Given the description of an element on the screen output the (x, y) to click on. 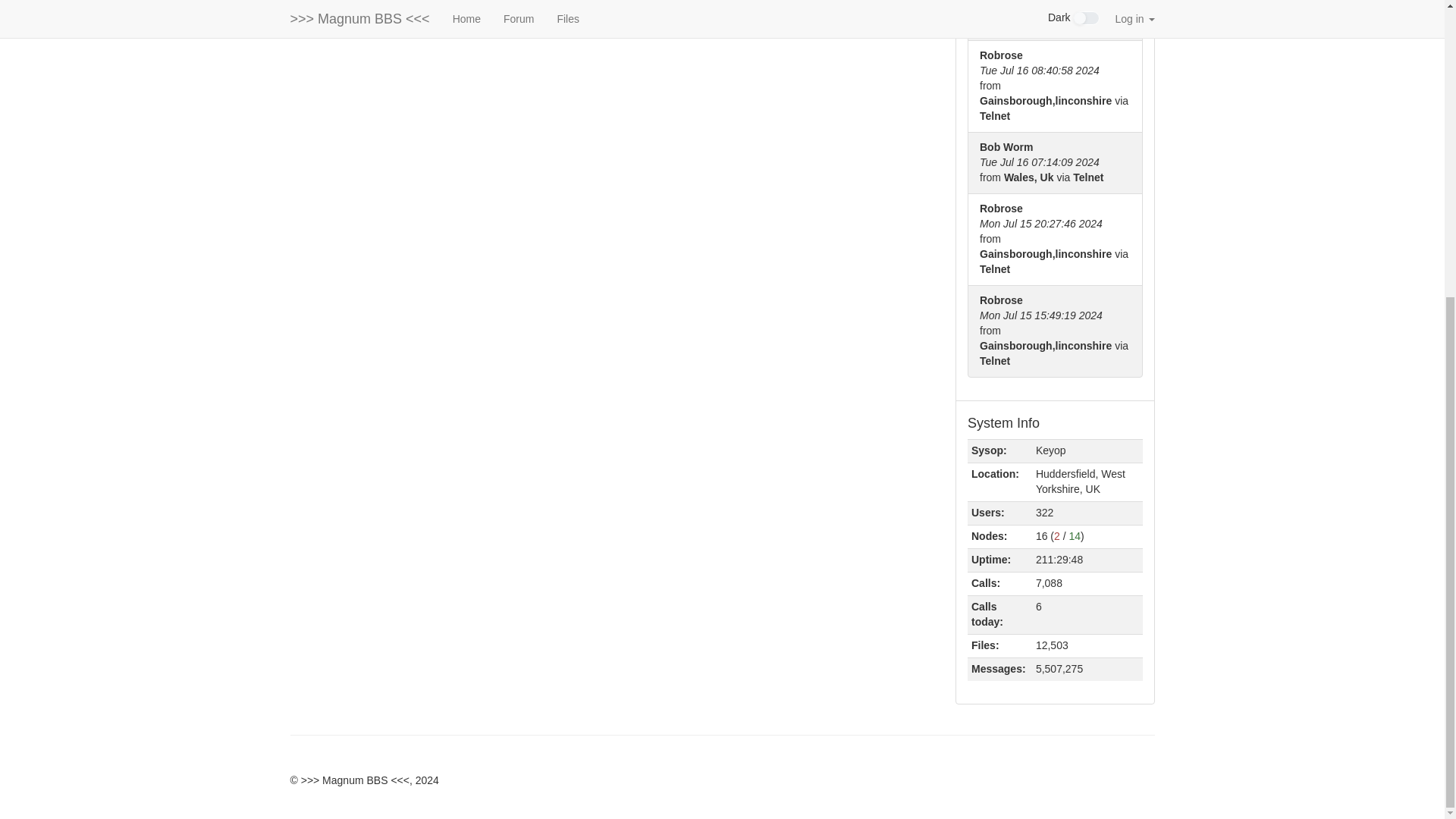
Available (1074, 535)
In use (1056, 535)
